Given the description of an element on the screen output the (x, y) to click on. 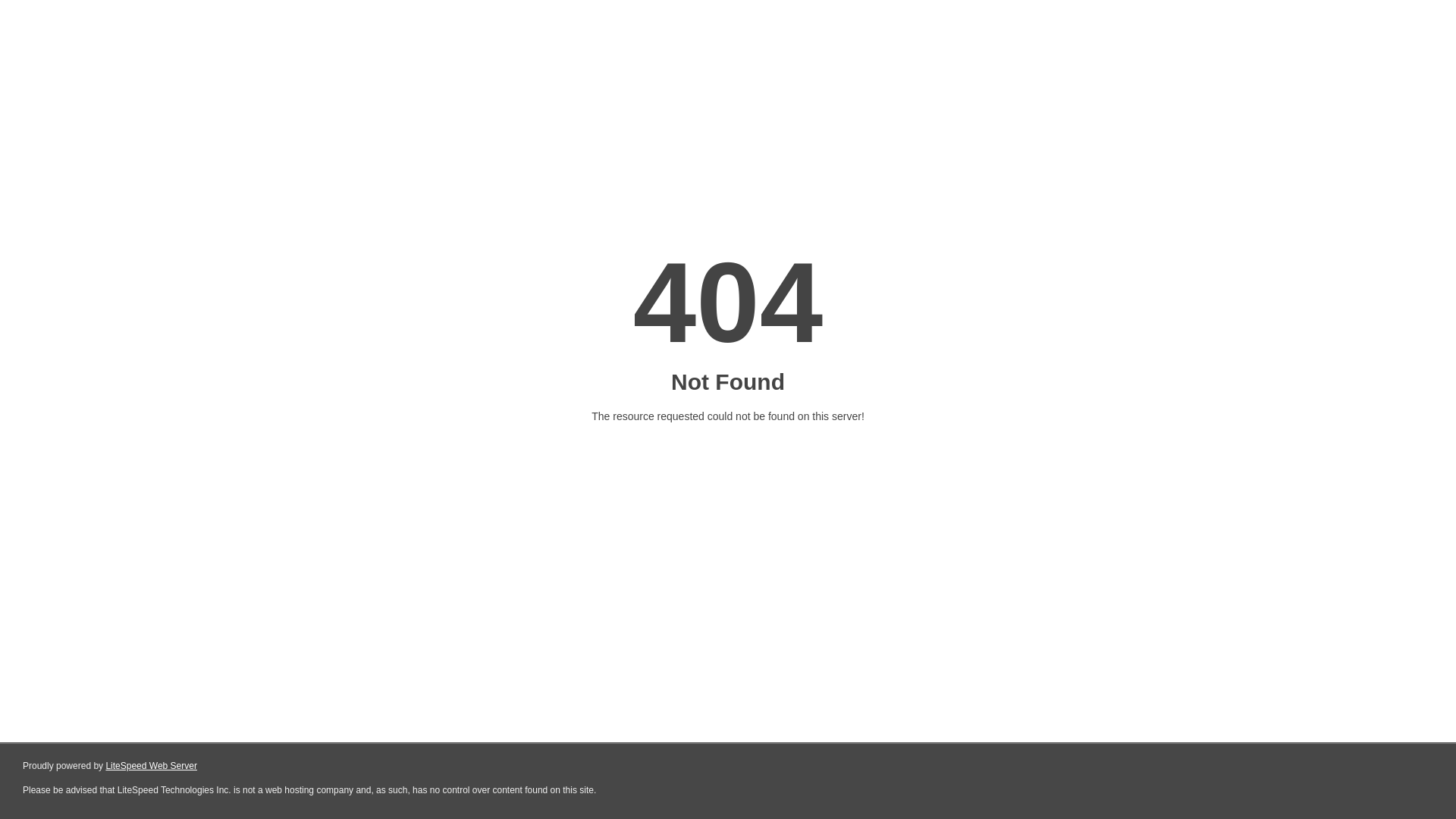
LiteSpeed Web Server Element type: text (151, 765)
